Given the description of an element on the screen output the (x, y) to click on. 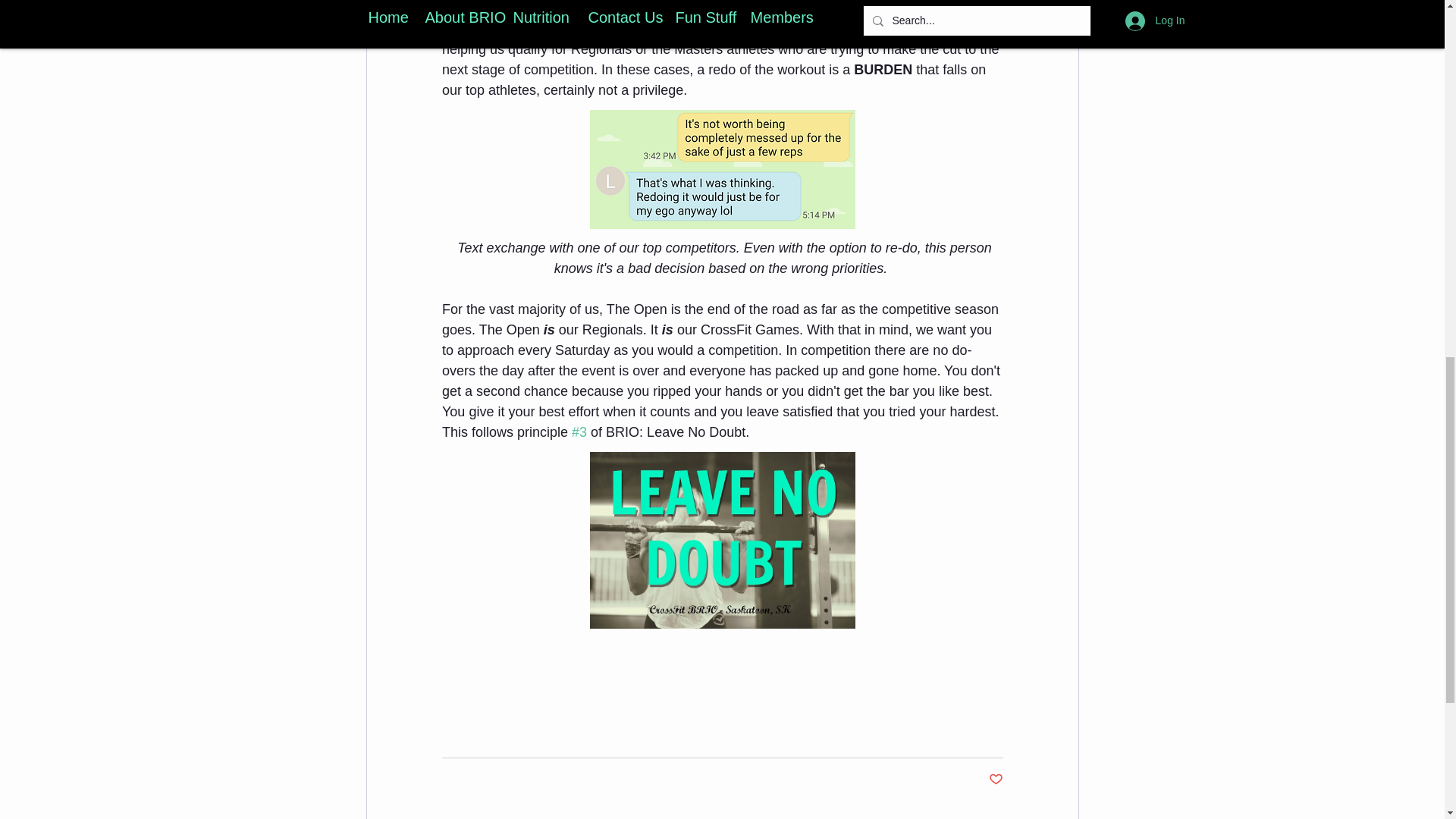
Post not marked as liked (995, 779)
